Given the description of an element on the screen output the (x, y) to click on. 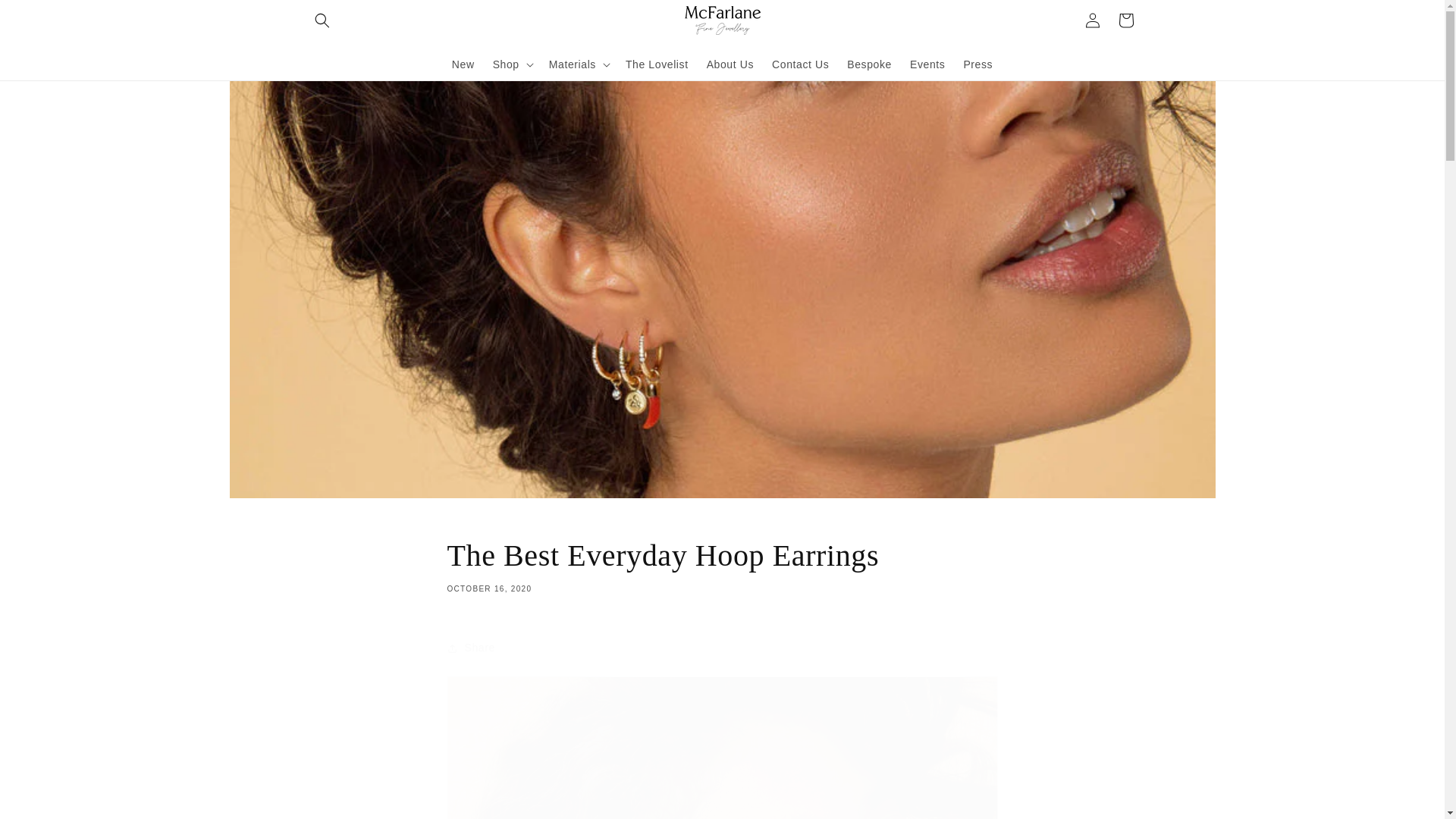
Skip to content (45, 17)
Share (721, 648)
